Given the description of an element on the screen output the (x, y) to click on. 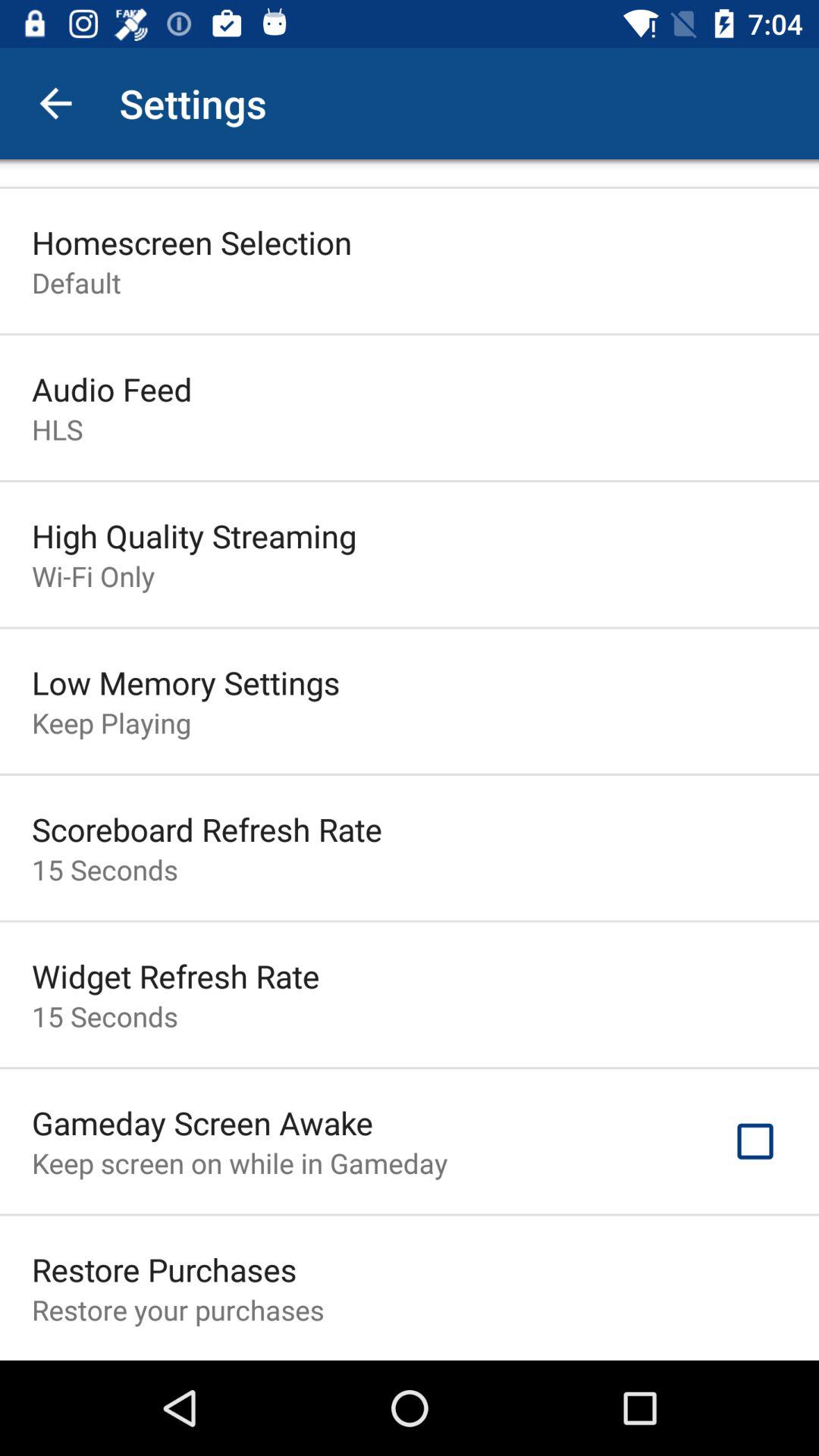
open the icon below the wi-fi only icon (185, 682)
